Given the description of an element on the screen output the (x, y) to click on. 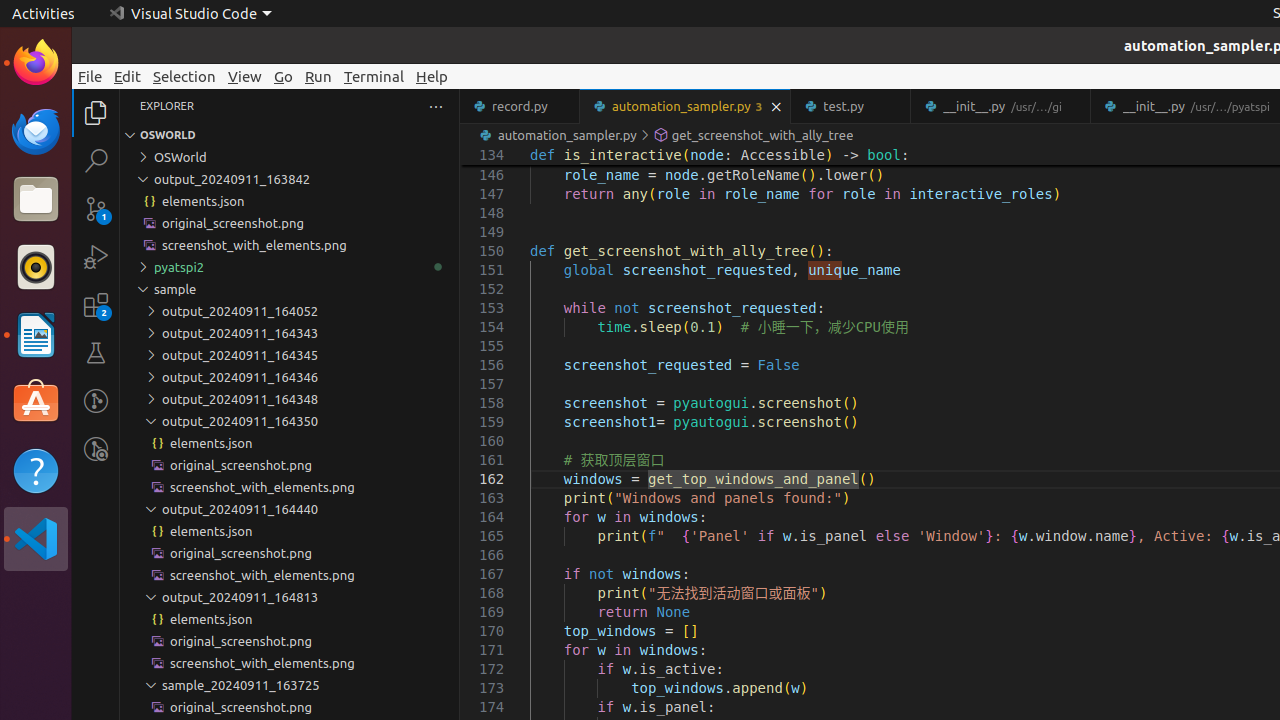
output_20240911_164346 Element type: tree-item (289, 377)
File Element type: push-button (90, 76)
Firefox Web Browser Element type: push-button (36, 63)
Selection Element type: push-button (184, 76)
output_20240911_164052 Element type: tree-item (289, 311)
